Given the description of an element on the screen output the (x, y) to click on. 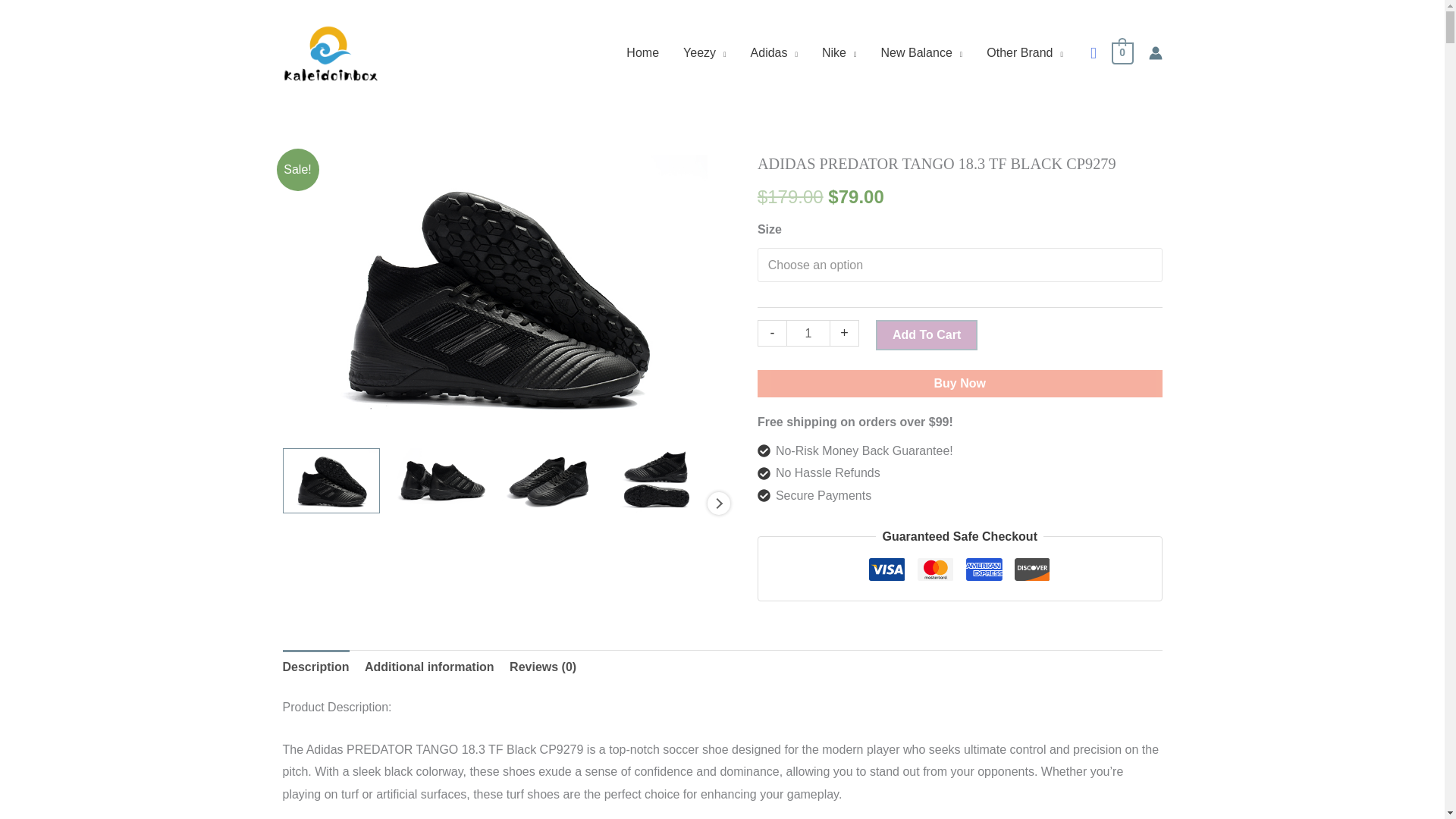
Yeezy (704, 52)
Home (642, 52)
Adidas (773, 52)
1 (807, 333)
